Given the description of an element on the screen output the (x, y) to click on. 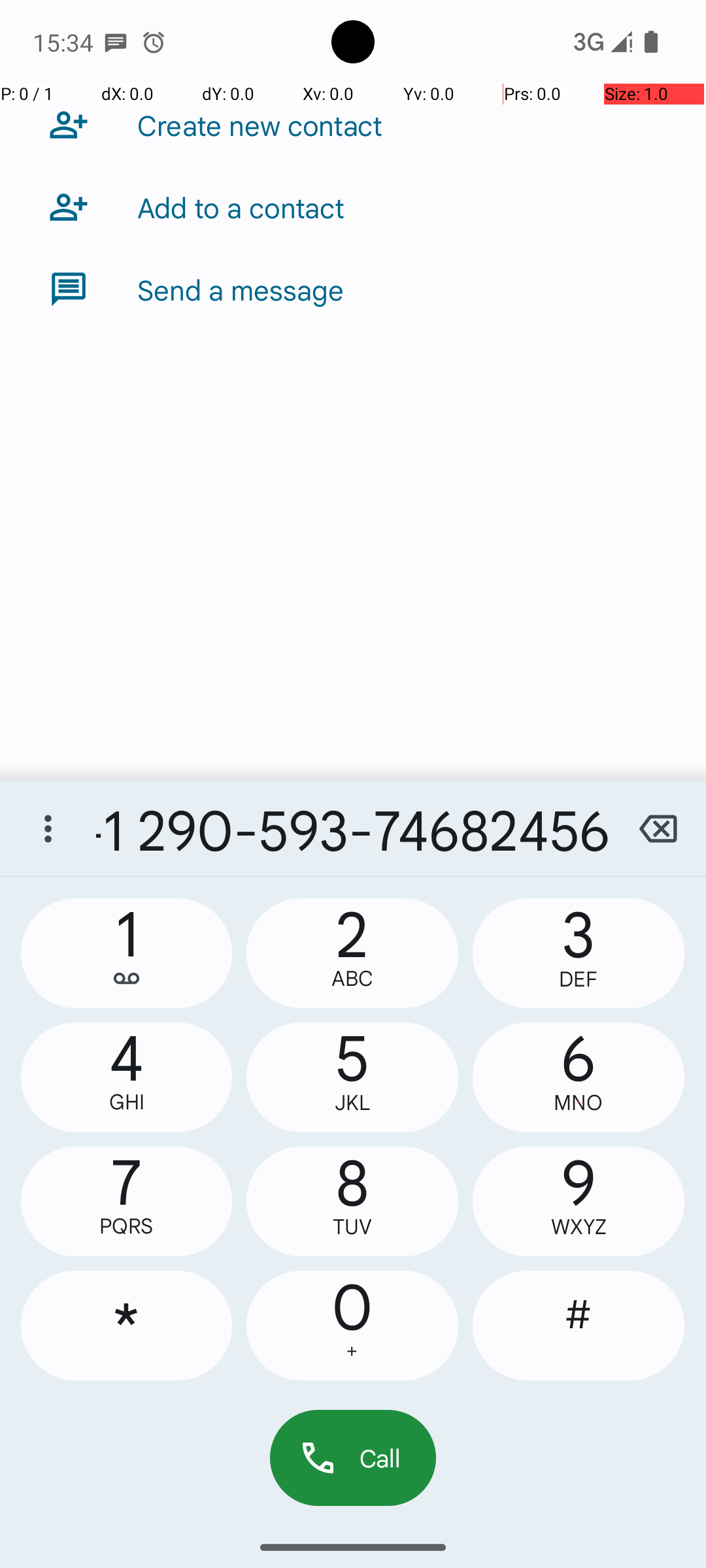
+1 290-593-74682456 Element type: android.widget.EditText (352, 828)
